Given the description of an element on the screen output the (x, y) to click on. 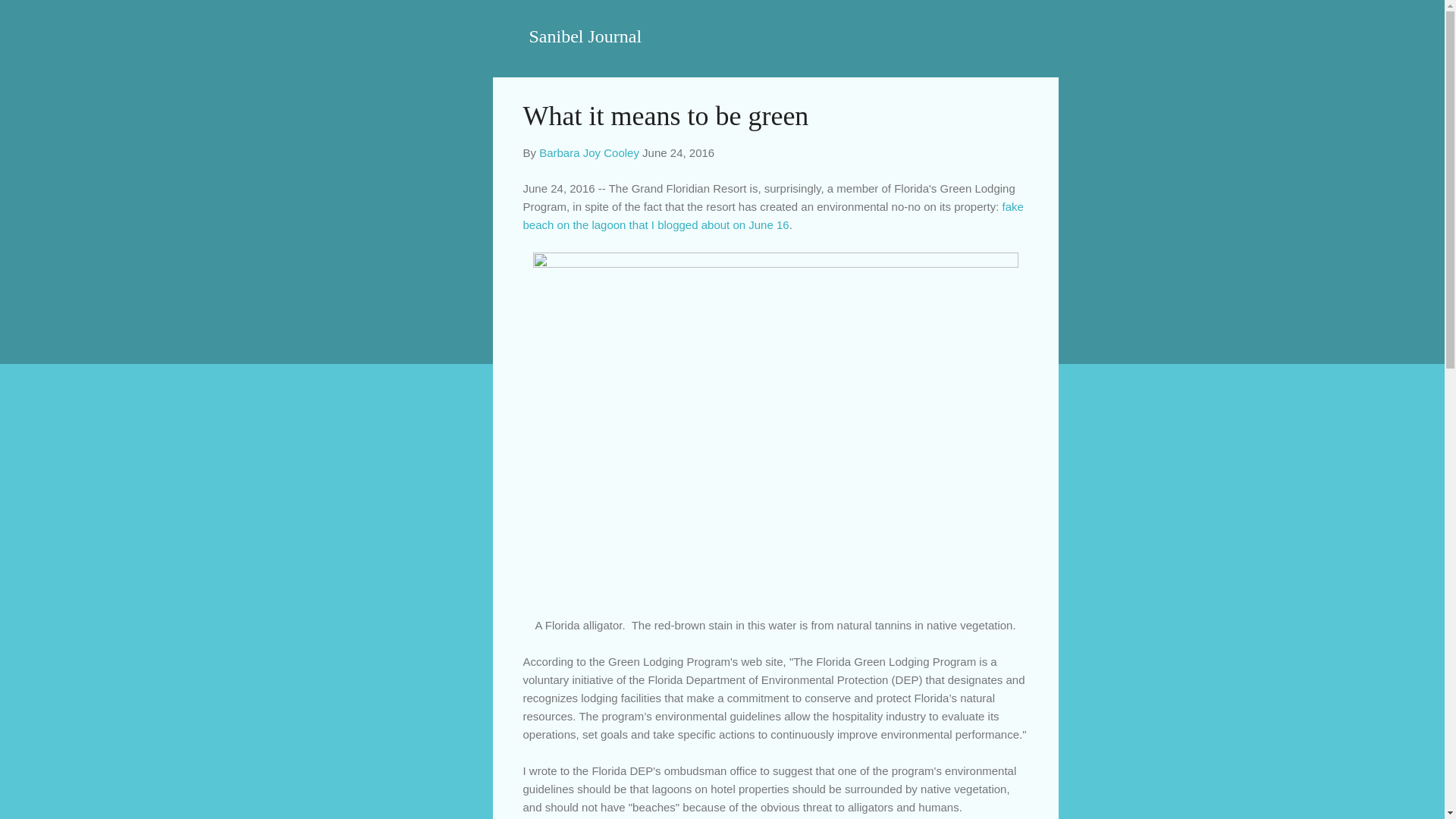
permanent link (678, 152)
fake beach on the lagoon that I blogged about on June 16 (772, 214)
Sanibel Journal (585, 35)
June 24, 2016 (678, 152)
Search (29, 18)
Barbara Joy Cooley (588, 152)
author profile (588, 152)
